Given the description of an element on the screen output the (x, y) to click on. 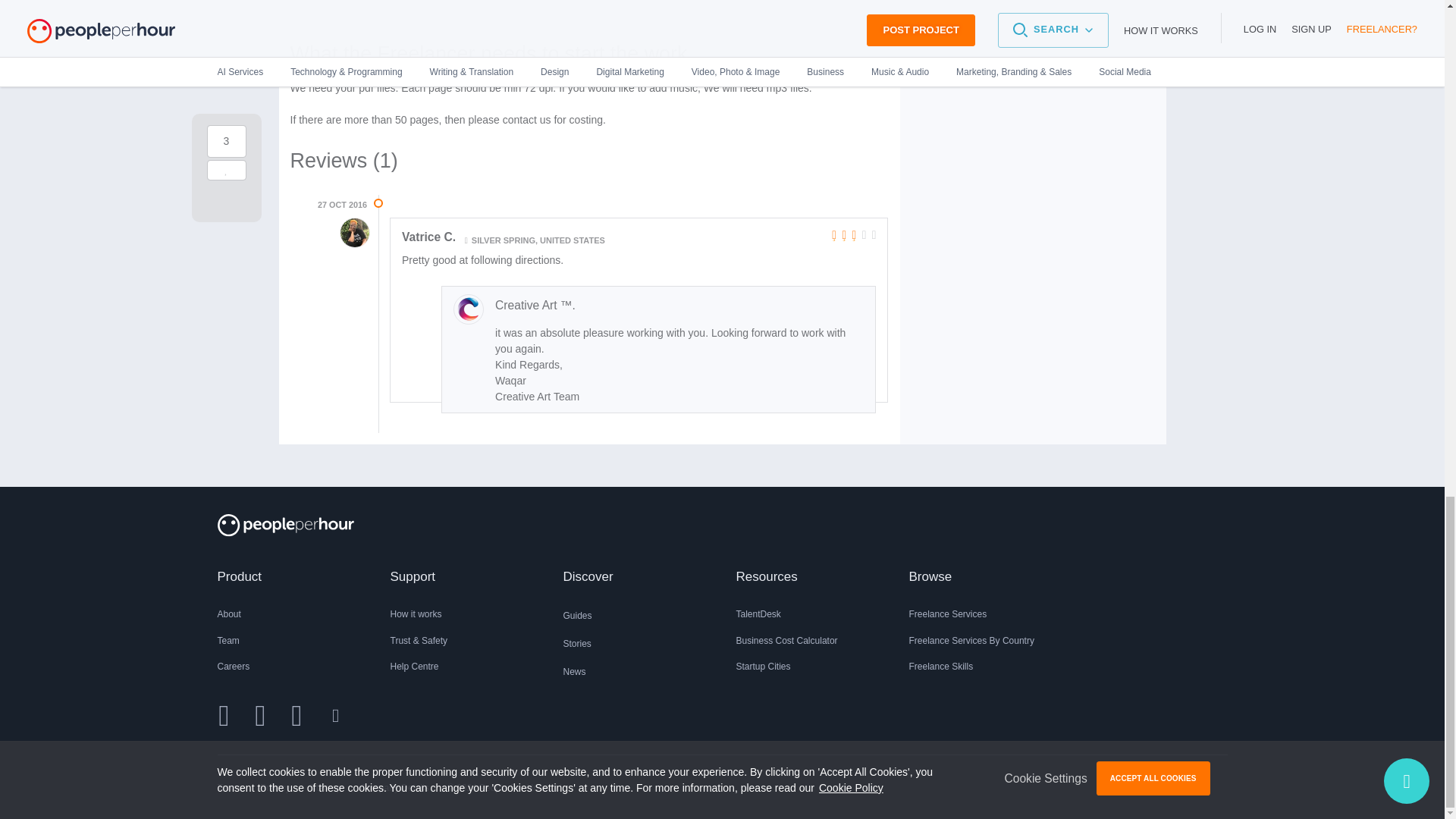
Thu, 27 Oct 2016  at 8:29pm (341, 205)
